Given the description of an element on the screen output the (x, y) to click on. 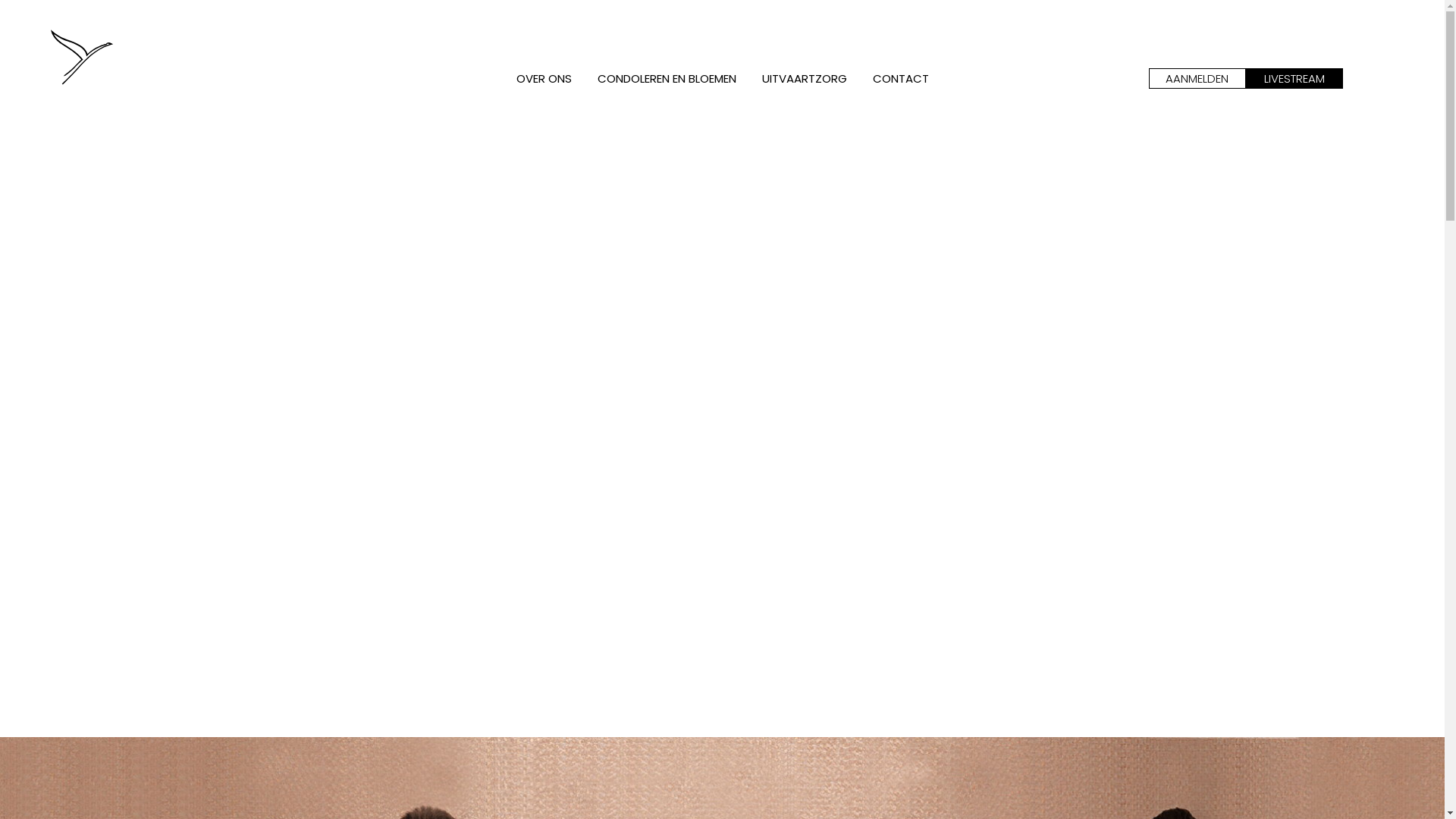
0 Element type: text (121, 67)
UITVAARTZORG Element type: text (804, 78)
CONTACT Element type: text (900, 78)
CONDOLEREN EN BLOEMEN Element type: text (665, 78)
LIVESTREAM Element type: text (1294, 78)
AANMELDEN Element type: text (1197, 78)
OVER ONS Element type: text (544, 78)
